Given the description of an element on the screen output the (x, y) to click on. 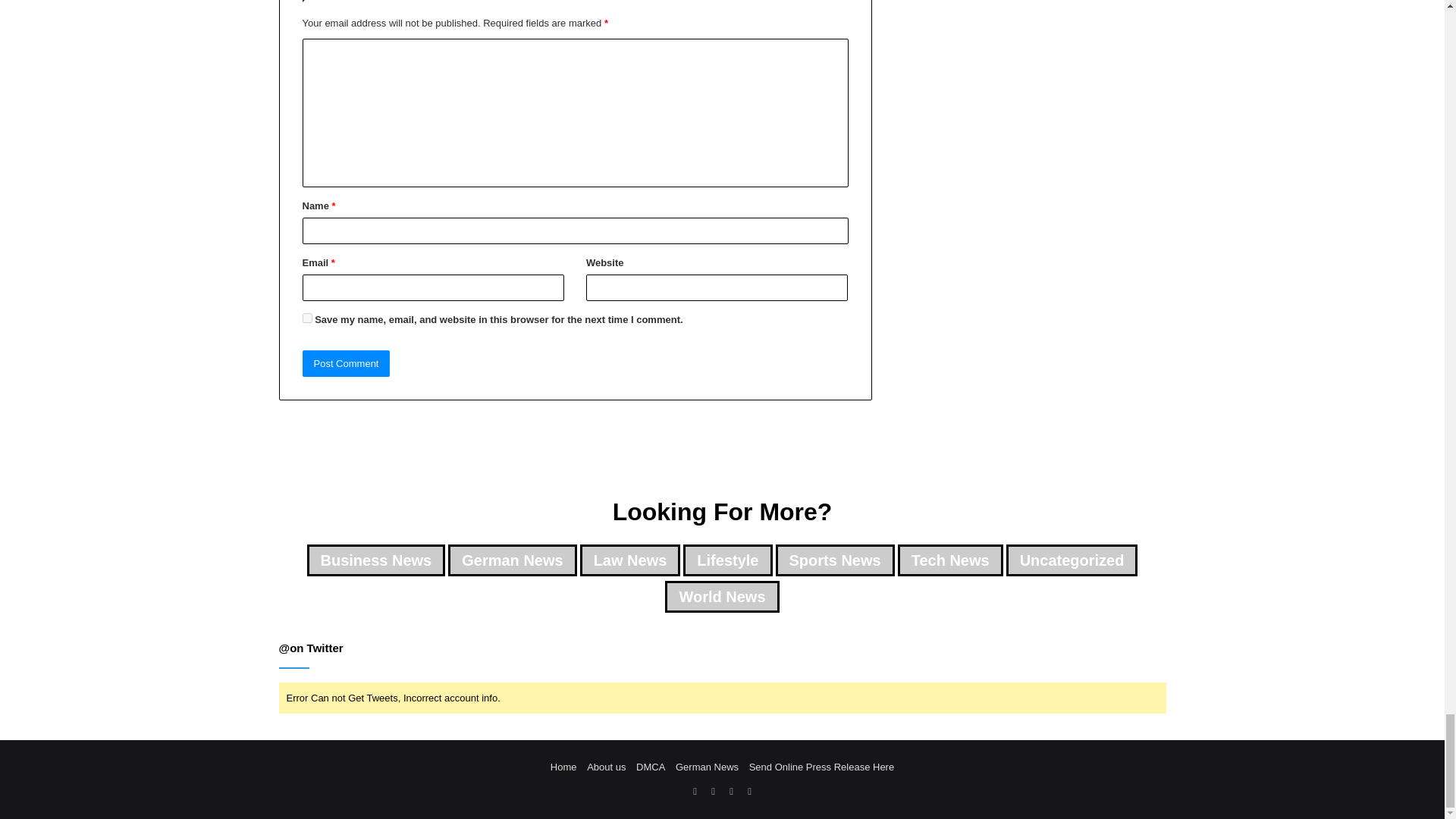
yes (306, 317)
Post Comment (345, 363)
